Given the description of an element on the screen output the (x, y) to click on. 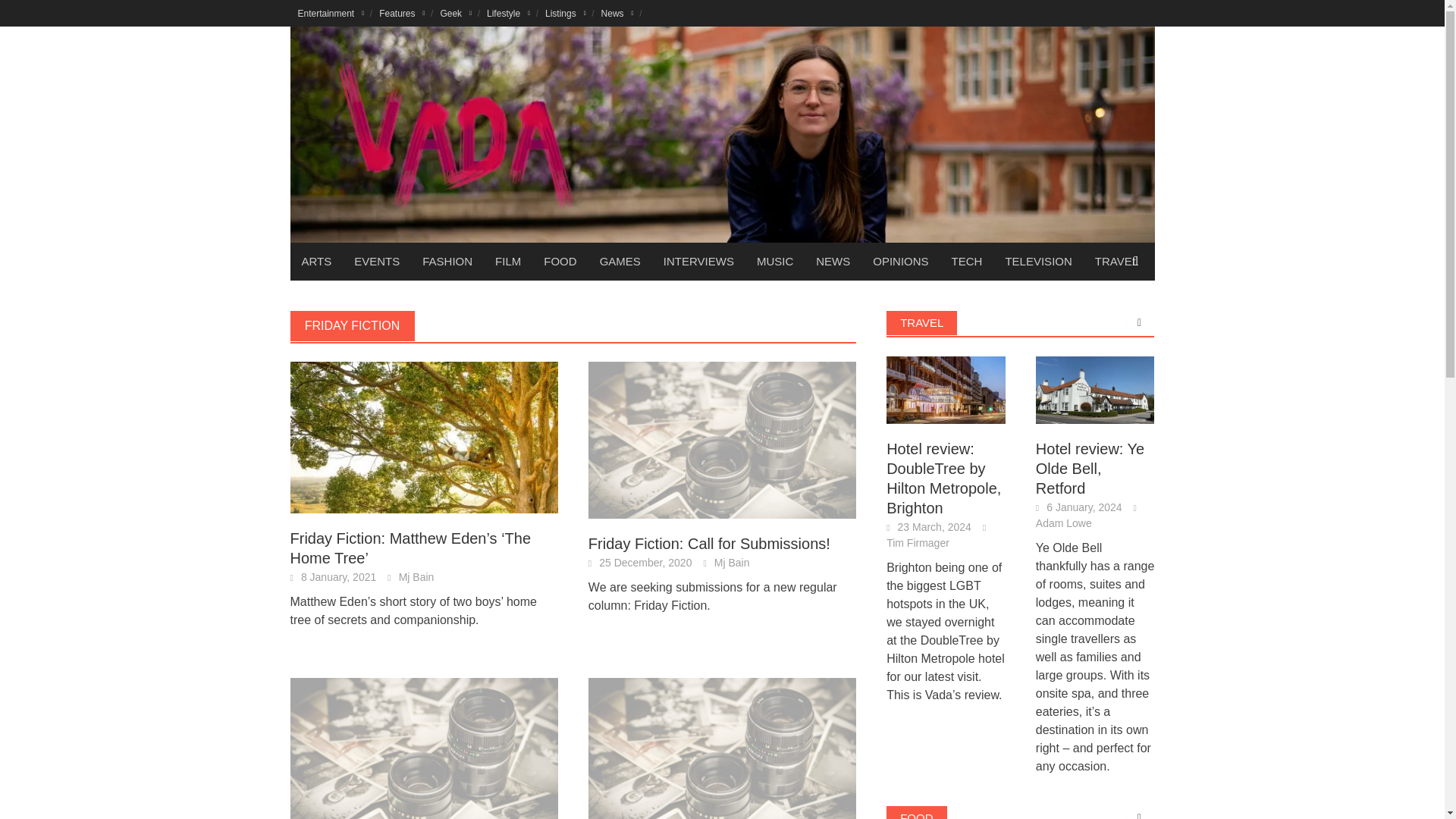
Friday Fiction: Call for Submissions! (722, 439)
Entertainment (330, 13)
Hotel review: DoubleTree by Hilton Metropole, Brighton (946, 389)
News (618, 13)
Hotel review: Ye Olde Bell, Retford (1094, 390)
Hotel review: DoubleTree by Hilton Metropole, Brighton (946, 390)
Listings (565, 13)
Hotel review: Ye Olde Bell, Retford (1094, 389)
Friday Fiction: Call for submissions (722, 755)
Lifestyle (508, 13)
Features (401, 13)
Geek (455, 13)
